Given the description of an element on the screen output the (x, y) to click on. 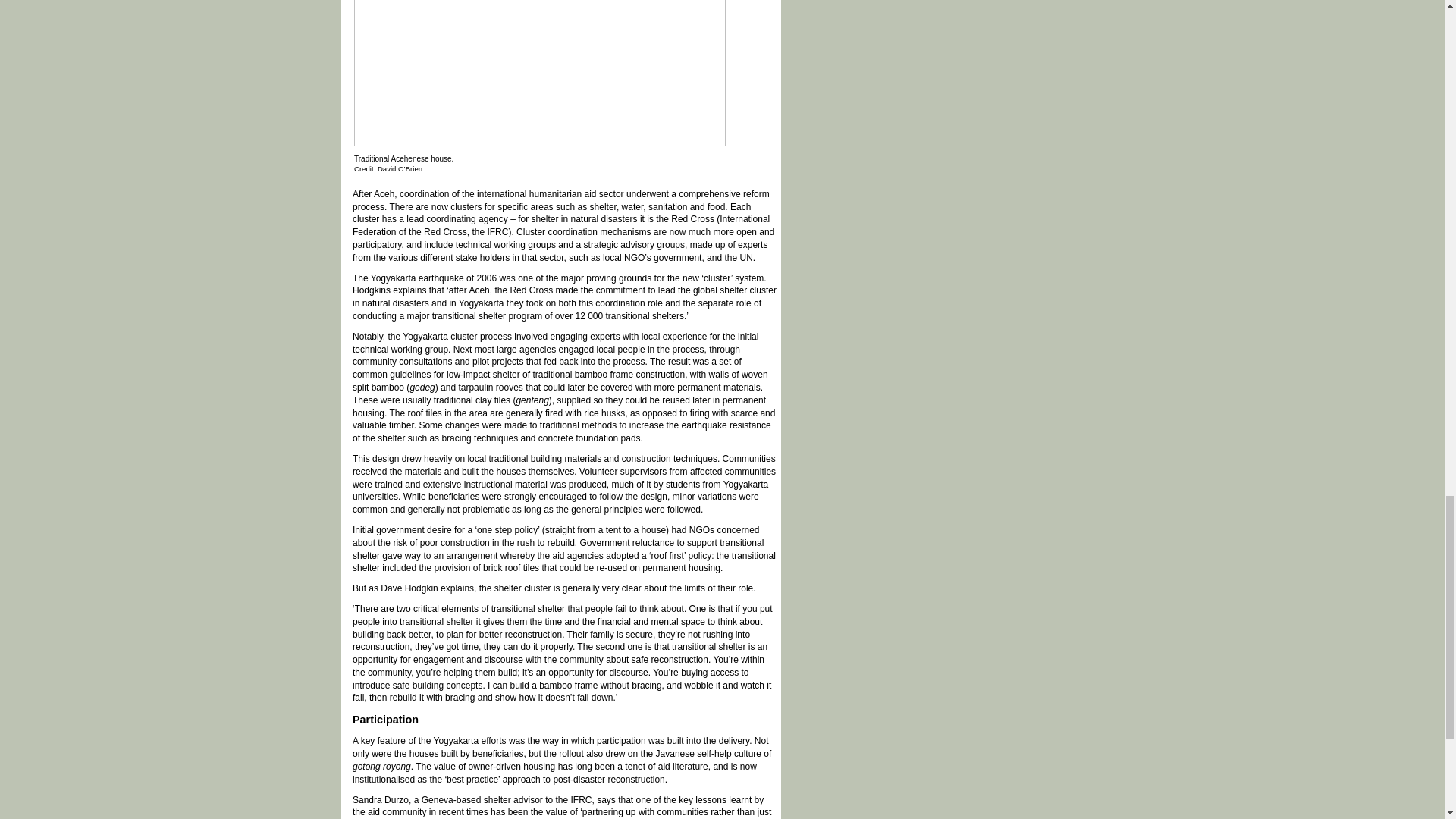
Traditional Acehenese house. (539, 141)
